Given the description of an element on the screen output the (x, y) to click on. 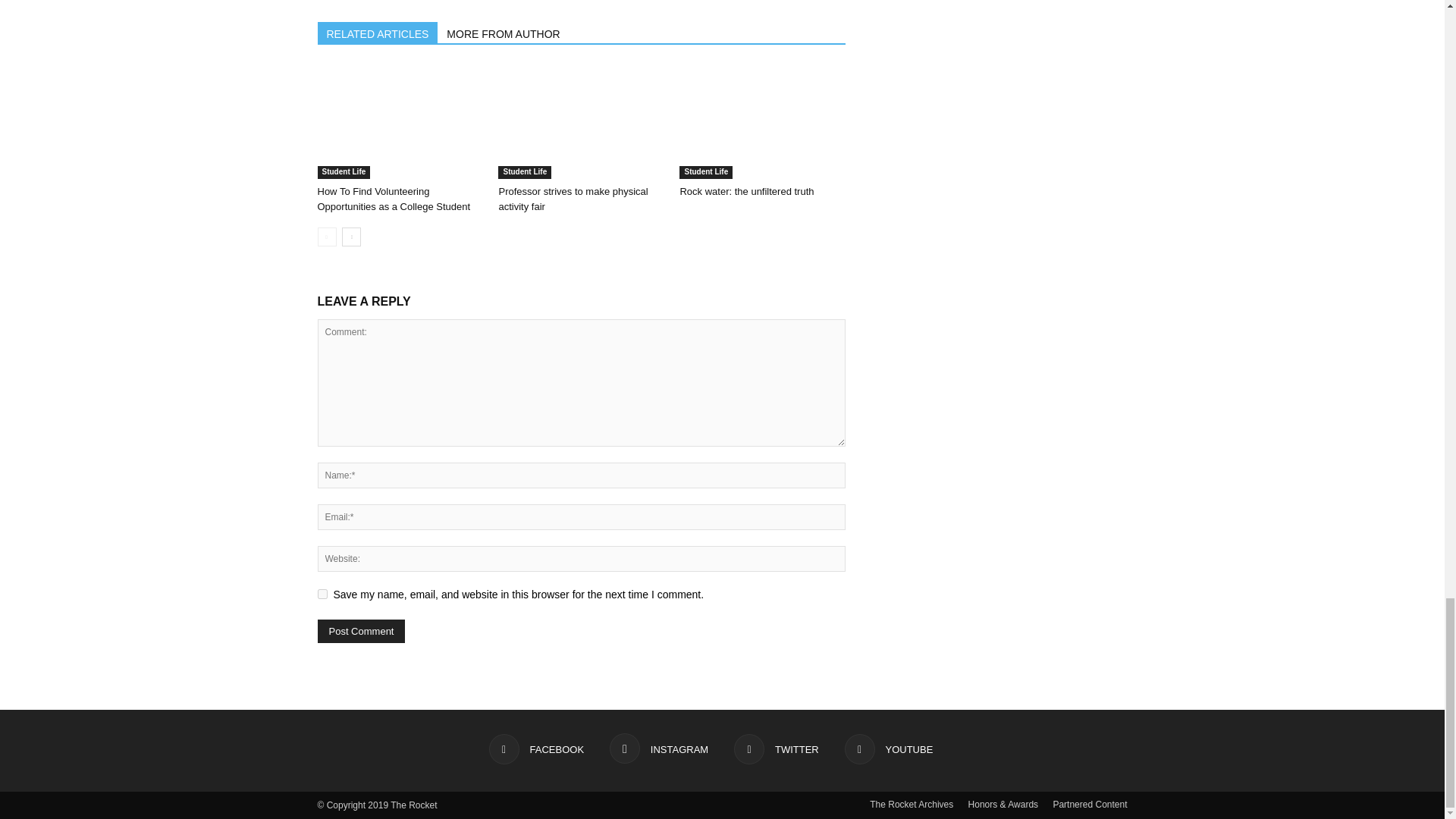
Professor strives to make physical activity fair (572, 198)
How To Find Volunteering Opportunities as a College Student (393, 198)
Professor strives to make physical activity fair (580, 122)
yes (321, 593)
How To Find Volunteering Opportunities as a College Student (399, 122)
Post Comment (360, 630)
Rock water: the unfiltered truth (761, 122)
